Given the description of an element on the screen output the (x, y) to click on. 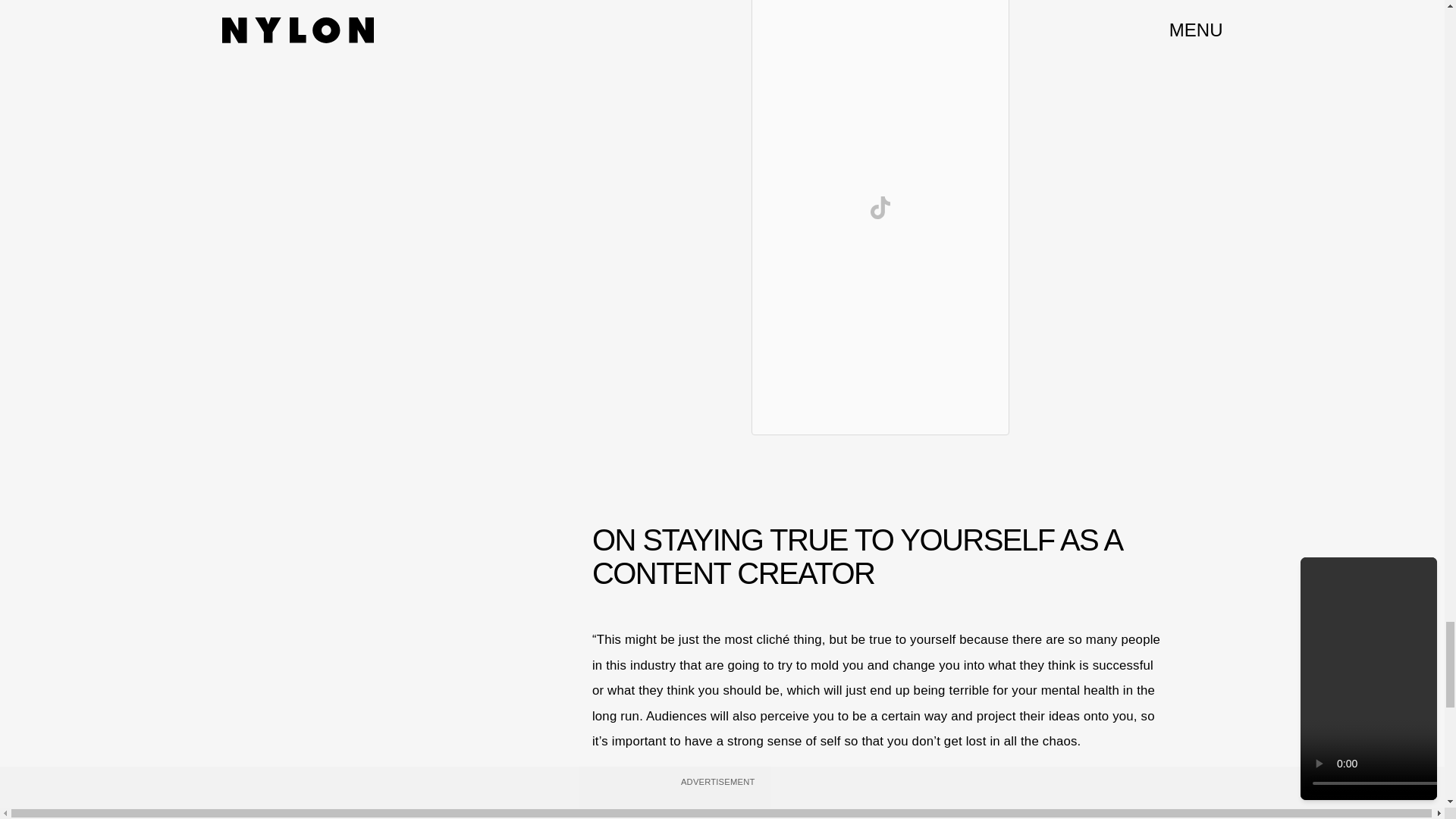
View on TikTok (879, 207)
